Given the description of an element on the screen output the (x, y) to click on. 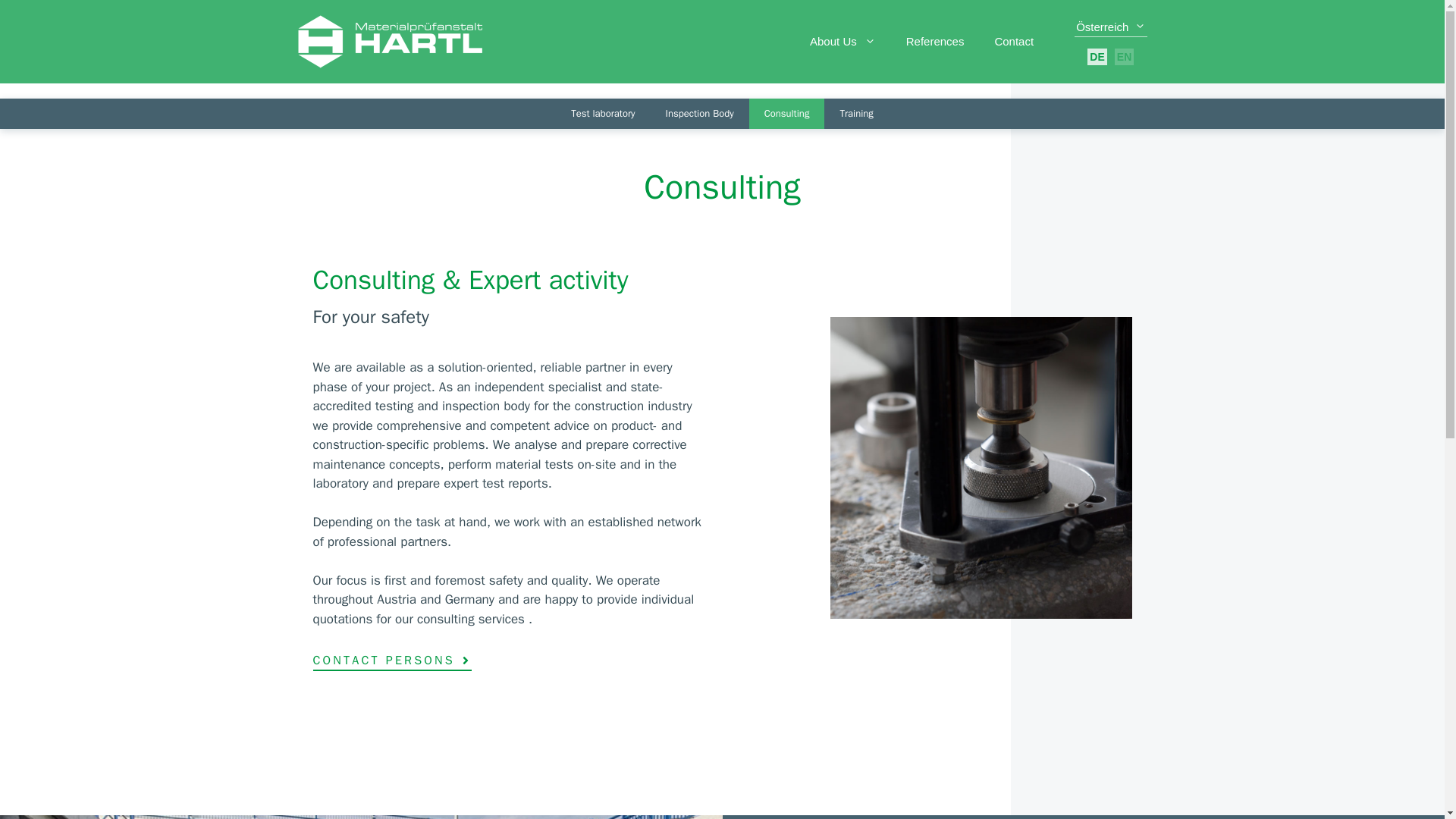
Inspection Body (699, 113)
Contact (1013, 41)
About Us (842, 41)
DE (1096, 56)
Consulting (787, 113)
References (935, 41)
CONTACT PERSONS (392, 660)
Training (856, 113)
Test laboratory (602, 113)
EN (1124, 56)
